Given the description of an element on the screen output the (x, y) to click on. 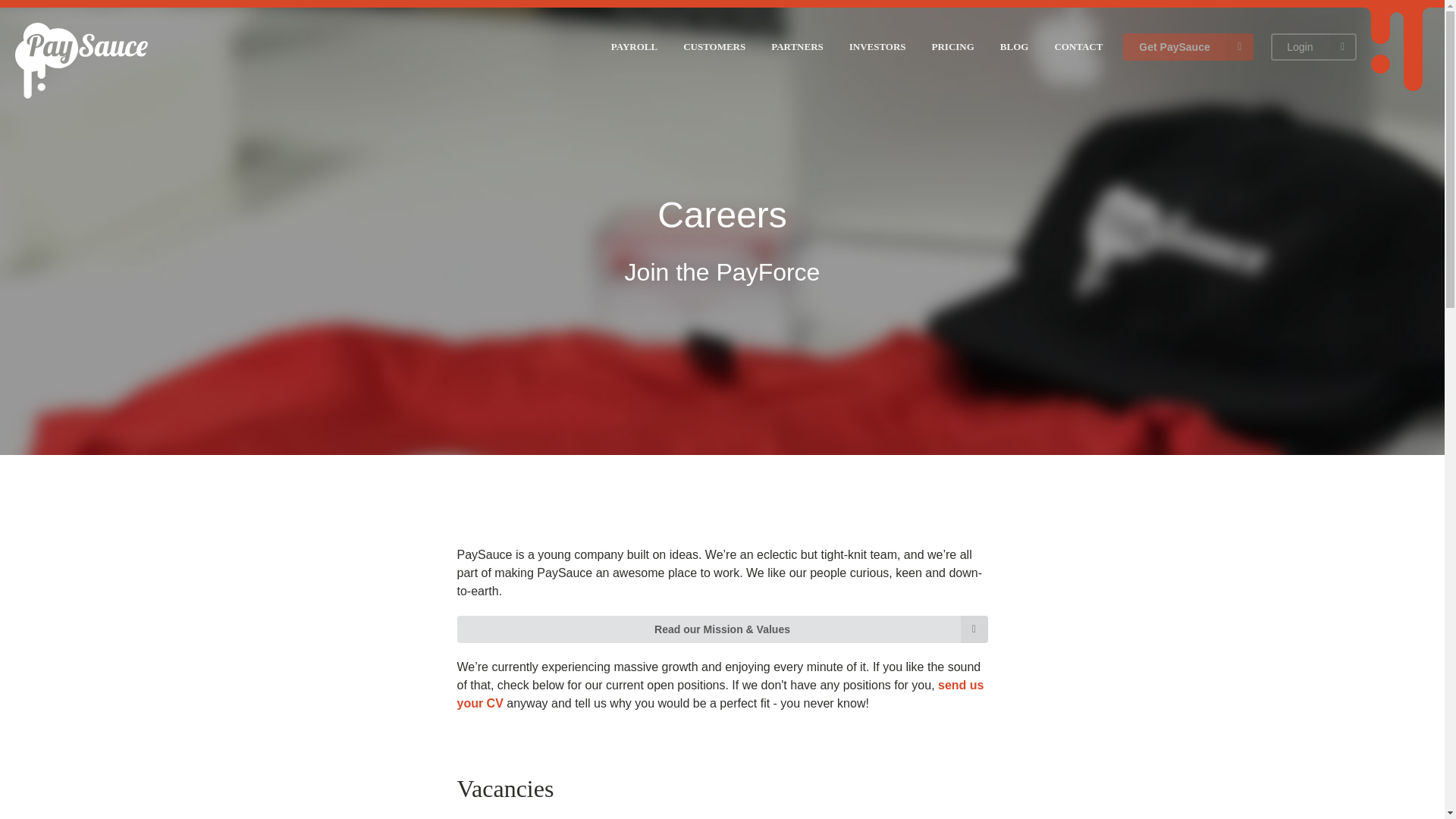
PRICING (952, 46)
Login (1313, 46)
INVESTORS (877, 46)
PAYROLL (633, 46)
CUSTOMERS (714, 46)
BLOG (1013, 46)
CONTACT (1078, 46)
Get PaySauce (1187, 46)
PARTNERS (796, 46)
